Given the description of an element on the screen output the (x, y) to click on. 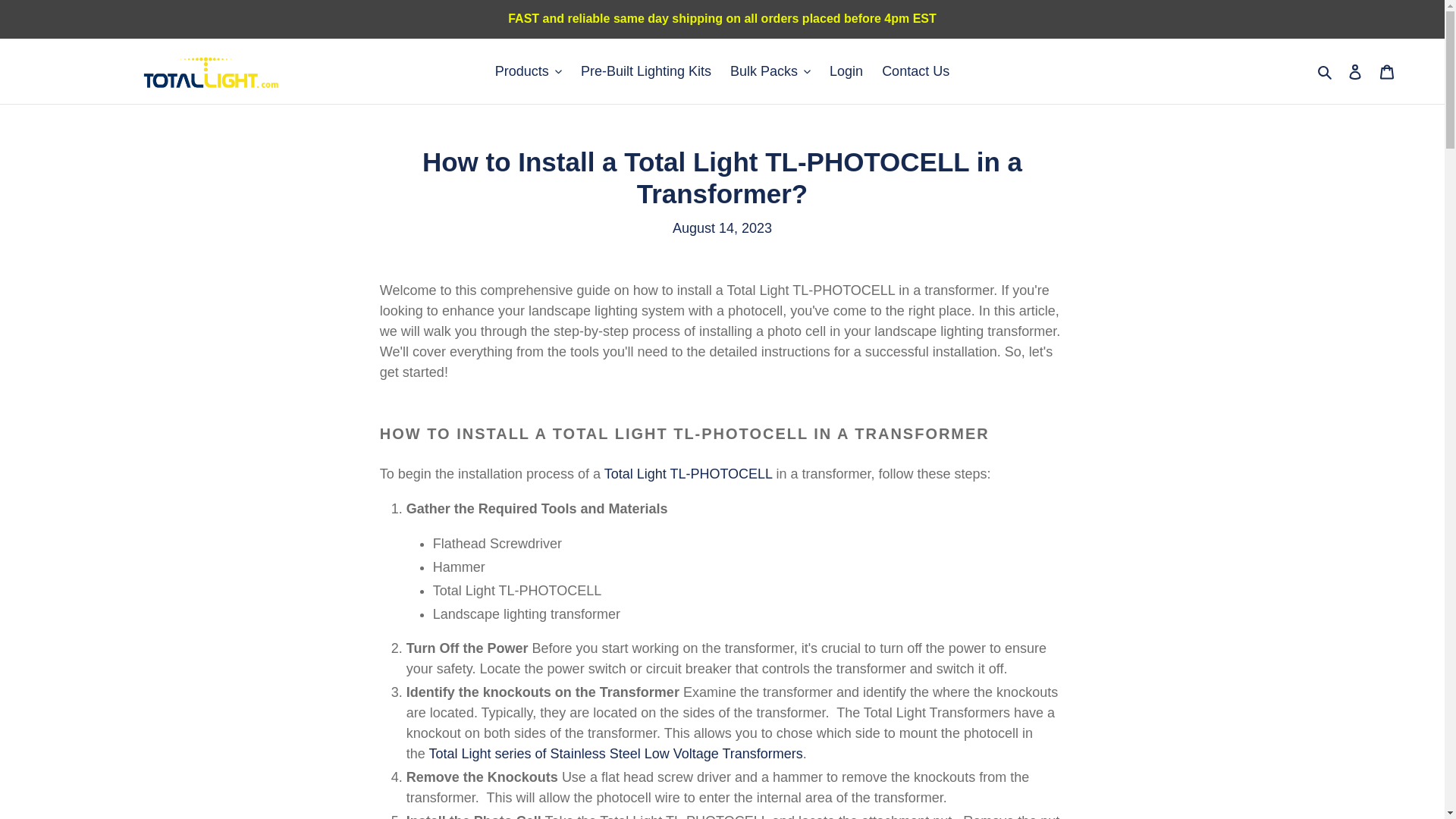
Pre-Built Lighting Kits (646, 71)
Search (1326, 71)
Login (846, 71)
Log in (1355, 70)
Total Light Photocel (688, 473)
Total Light Low Voltage Transformers (616, 754)
Contact Us (915, 71)
Cart (1387, 70)
Products (528, 71)
Bulk Packs (770, 71)
